Given the description of an element on the screen output the (x, y) to click on. 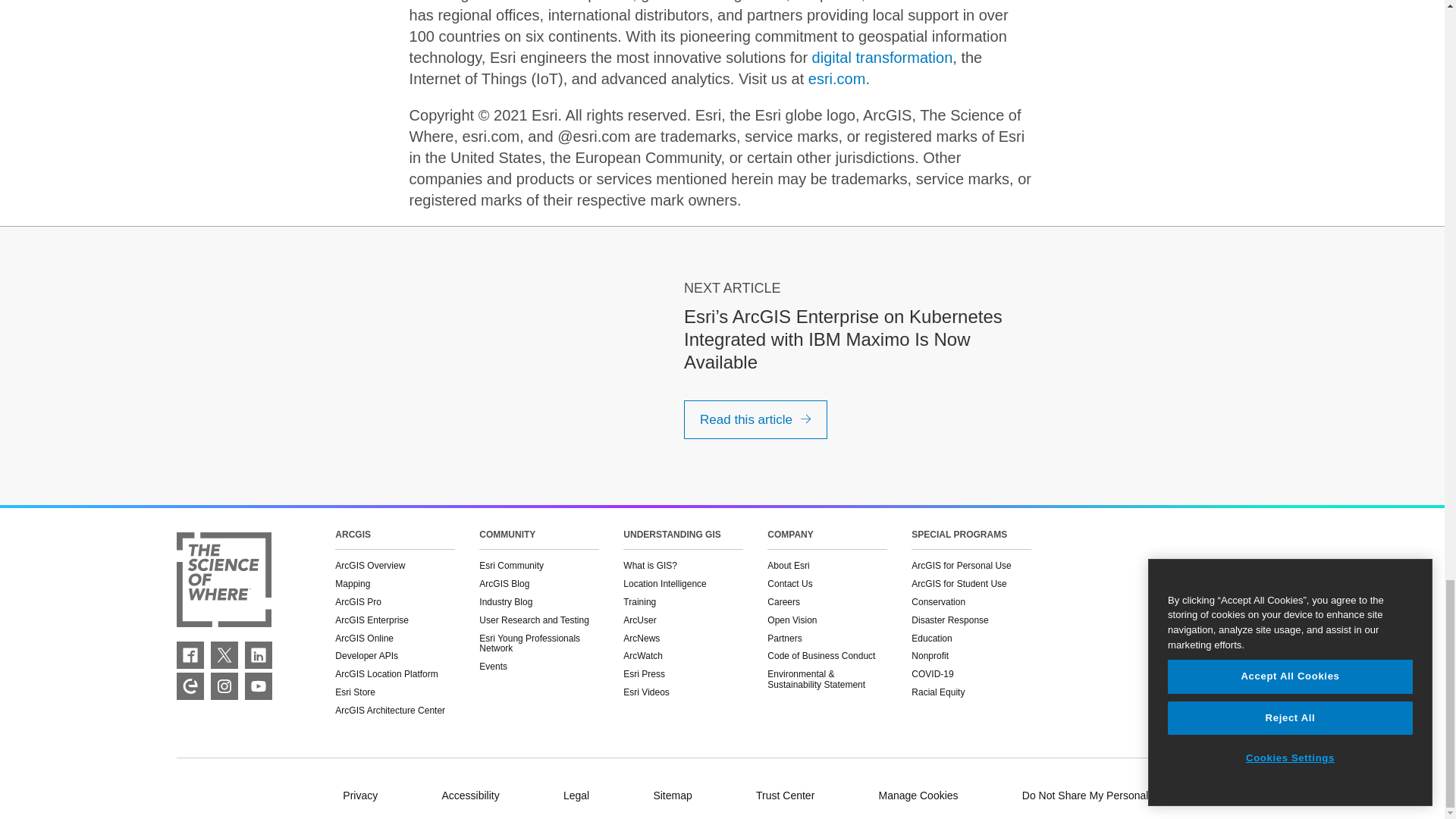
TwitterTwitter (224, 655)
FacebookFacebook (189, 655)
More about Esri and the Science of Where (223, 581)
Facebook (189, 655)
Esri CommunityEsri Community (189, 686)
LinkedInLinkedIn (257, 655)
Instagram (224, 686)
Twitter (224, 655)
Esri Community (189, 686)
LinkedIn (257, 655)
YouTube (257, 686)
InstagramInstagram (224, 686)
